Given the description of an element on the screen output the (x, y) to click on. 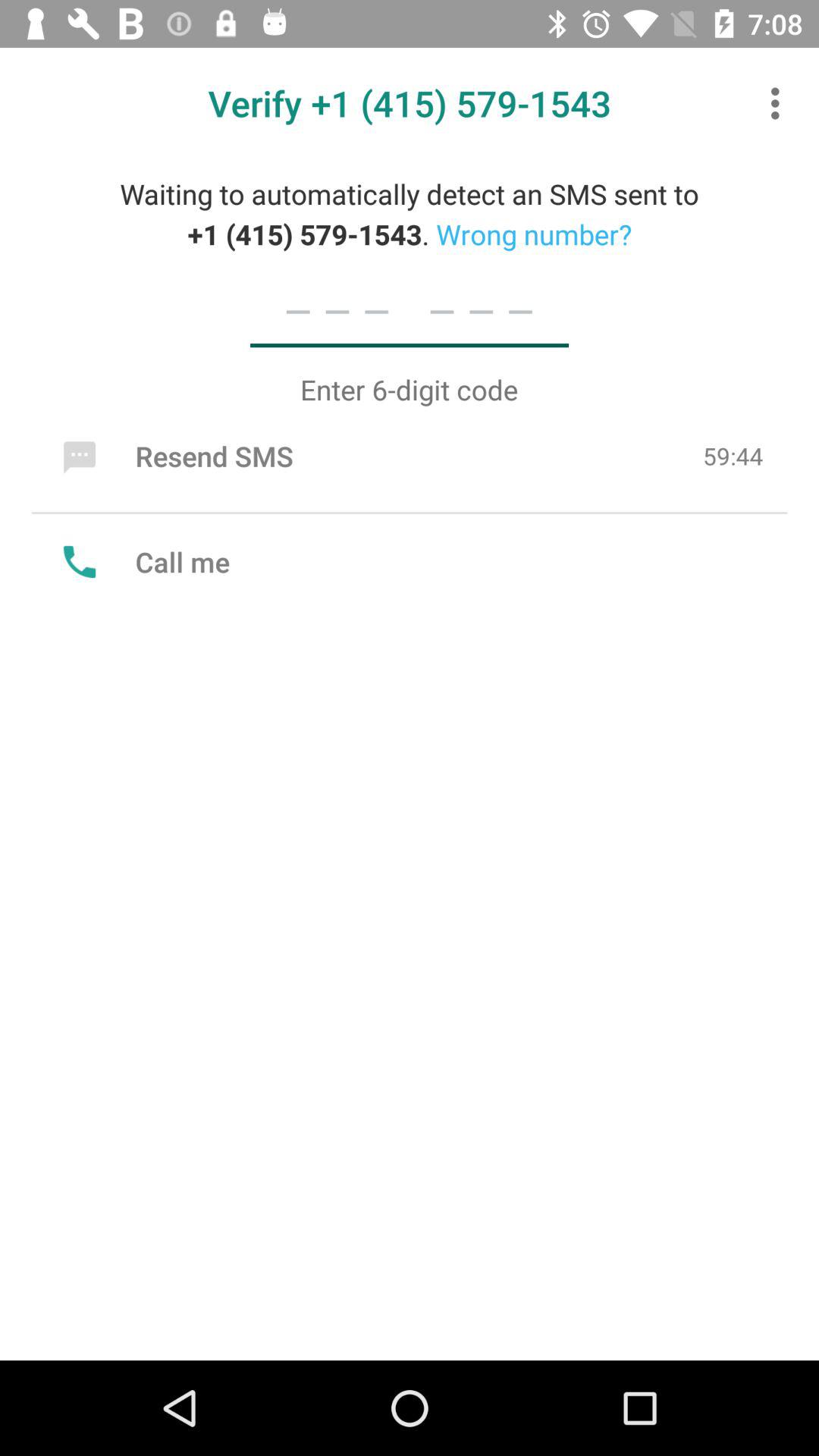
click the icon above waiting to automatically icon (779, 103)
